Given the description of an element on the screen output the (x, y) to click on. 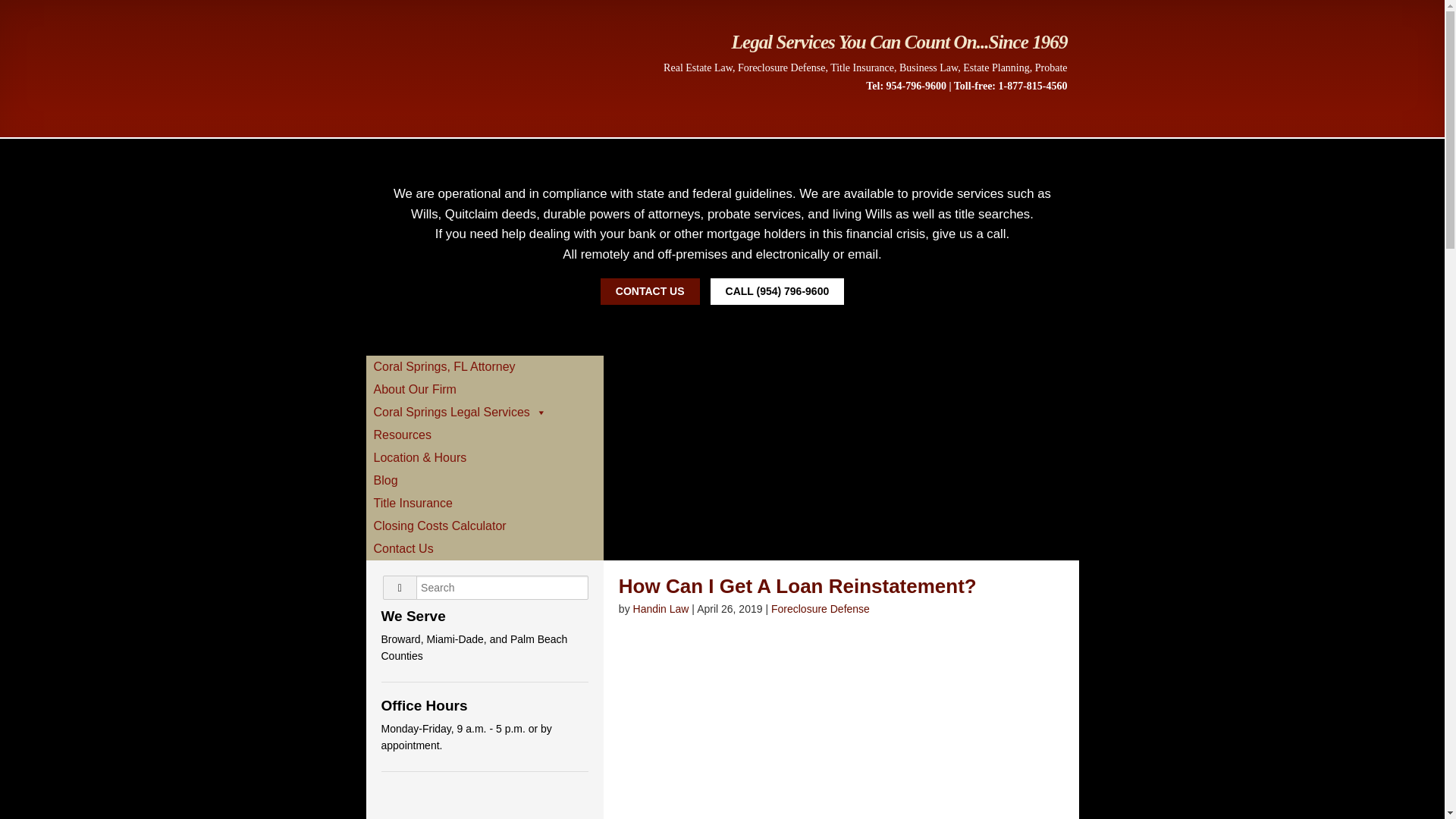
Coral Springs Legal Services (483, 412)
Contact Us (483, 548)
Blog (483, 480)
About Our Firm (483, 389)
Read How Can I Get A Loan Reinstatement? (797, 585)
View all articles by Handin Law (660, 608)
Resources (483, 435)
CONTACT US (649, 291)
Toll-free: 1-877-815-4560 (1010, 85)
Coral Springs, FL Attorney (483, 366)
The Law Offices of Gary I. Handin, Esq. (484, 116)
Closing Costs Calculator (483, 526)
Tel: 954-796-9600 (906, 85)
Title Insurance (483, 503)
